Given the description of an element on the screen output the (x, y) to click on. 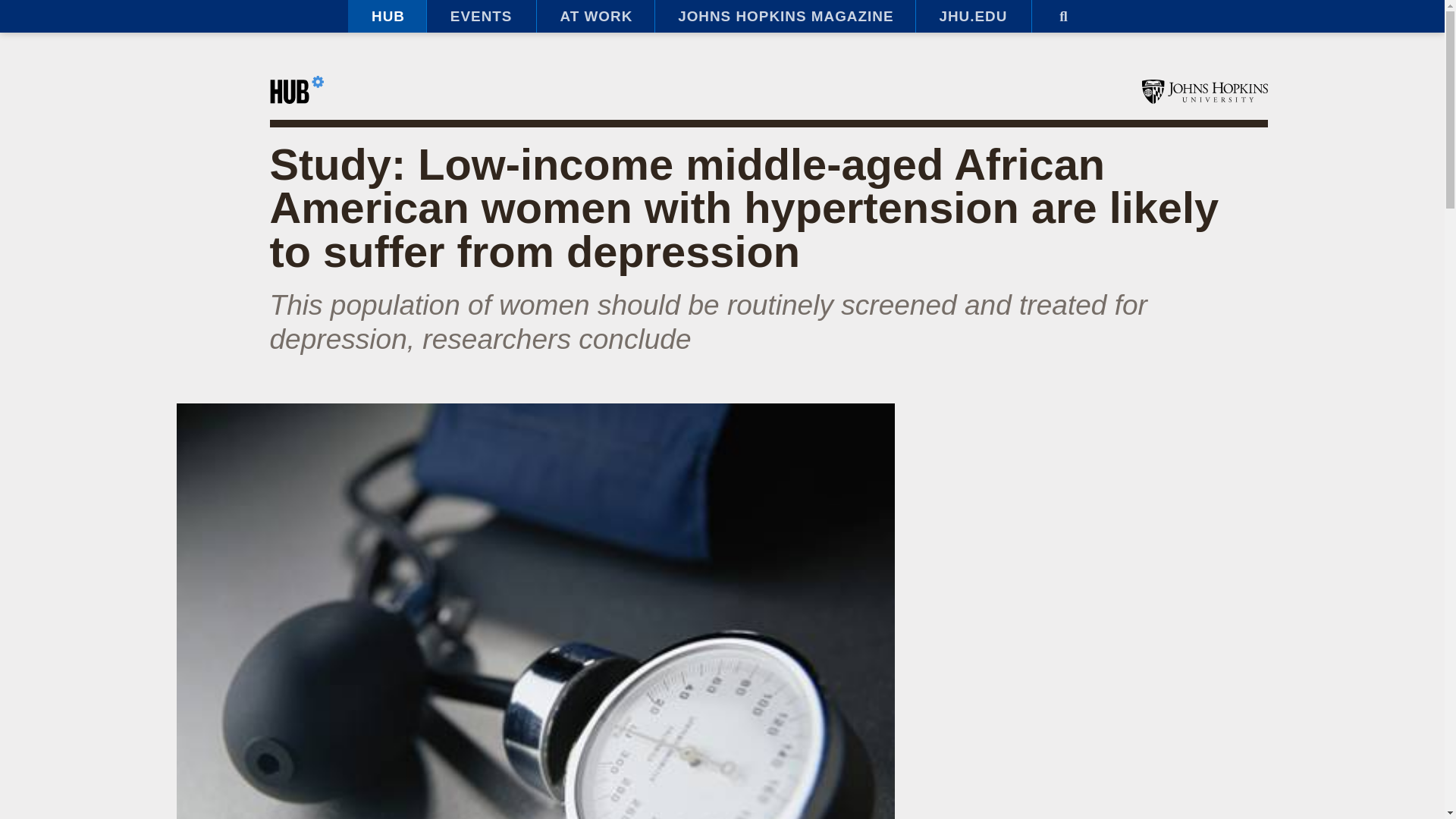
JOHNS HOPKINS MAGAZINE (784, 16)
AT WORK (594, 16)
EVENTS (480, 16)
Johns Hopkins University (1204, 91)
JHU.EDU (972, 16)
HUB (386, 16)
